Given the description of an element on the screen output the (x, y) to click on. 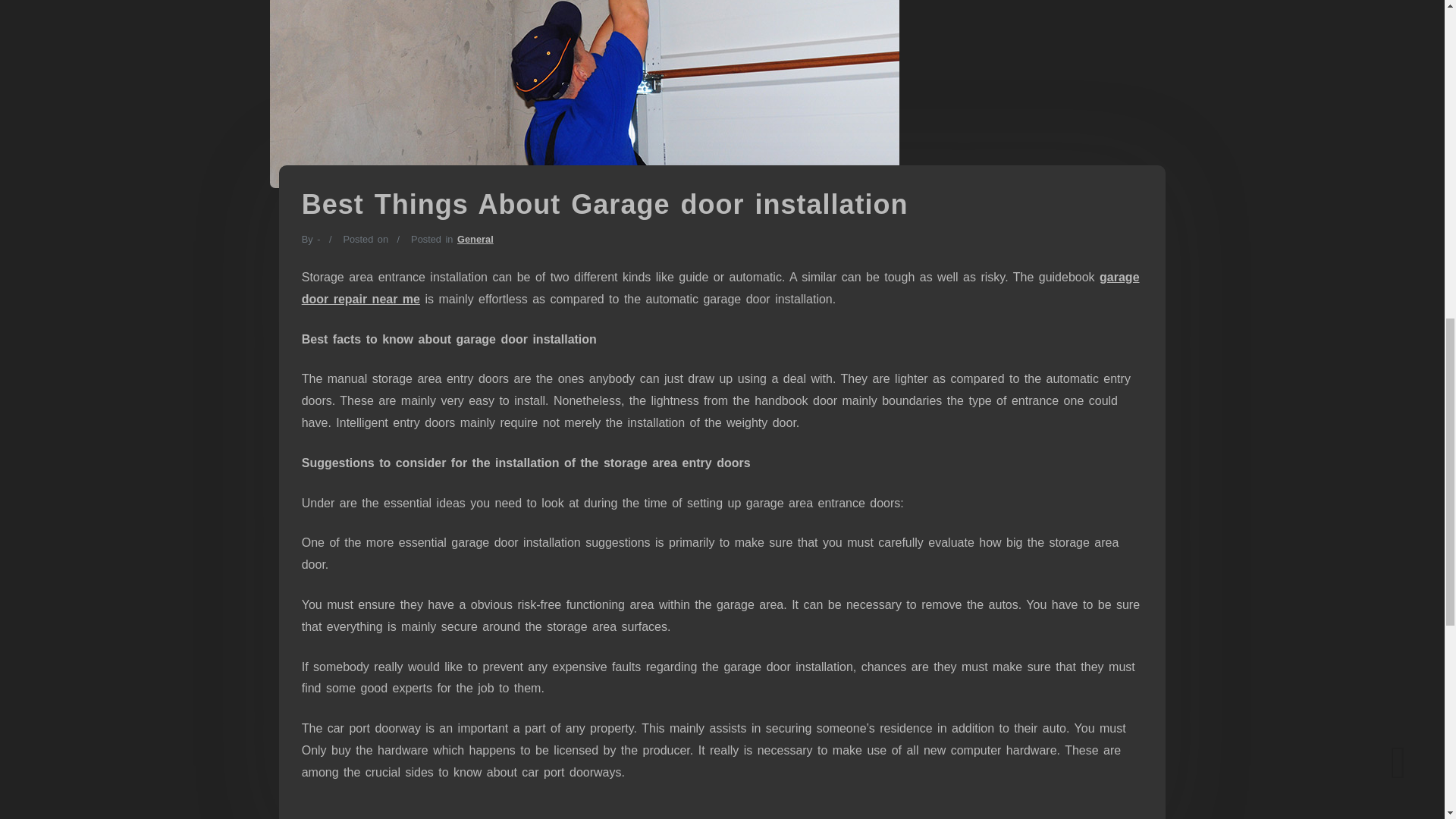
garage door repair near me (720, 288)
General (475, 238)
